Given the description of an element on the screen output the (x, y) to click on. 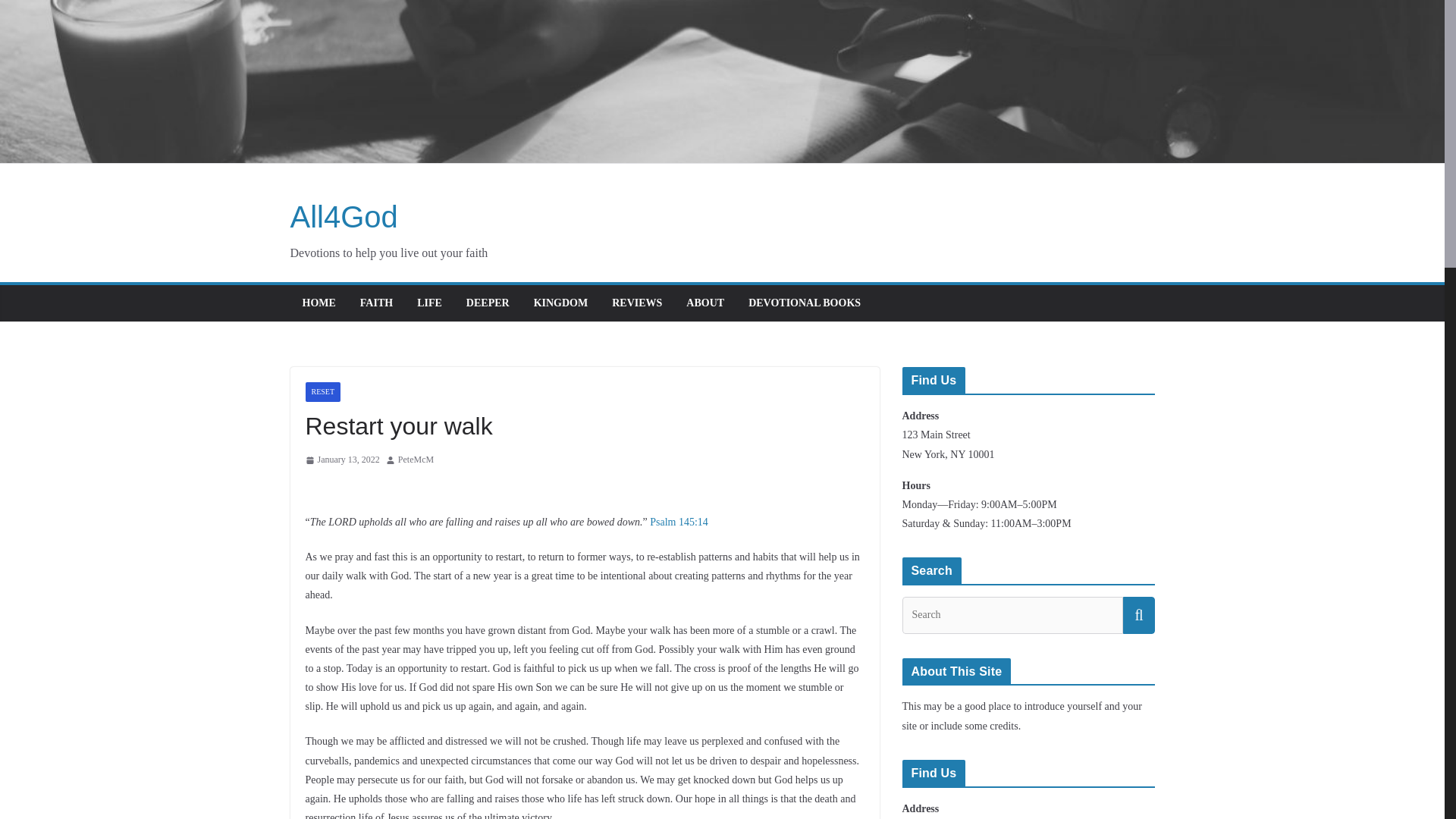
HOME (317, 302)
PeteMcM (415, 460)
LIFE (429, 302)
FAITH (376, 302)
ABOUT (704, 302)
All4God (343, 216)
DEVOTIONAL BOOKS (804, 302)
8:03 am (341, 460)
REVIEWS (636, 302)
KINGDOM (561, 302)
